Given the description of an element on the screen output the (x, y) to click on. 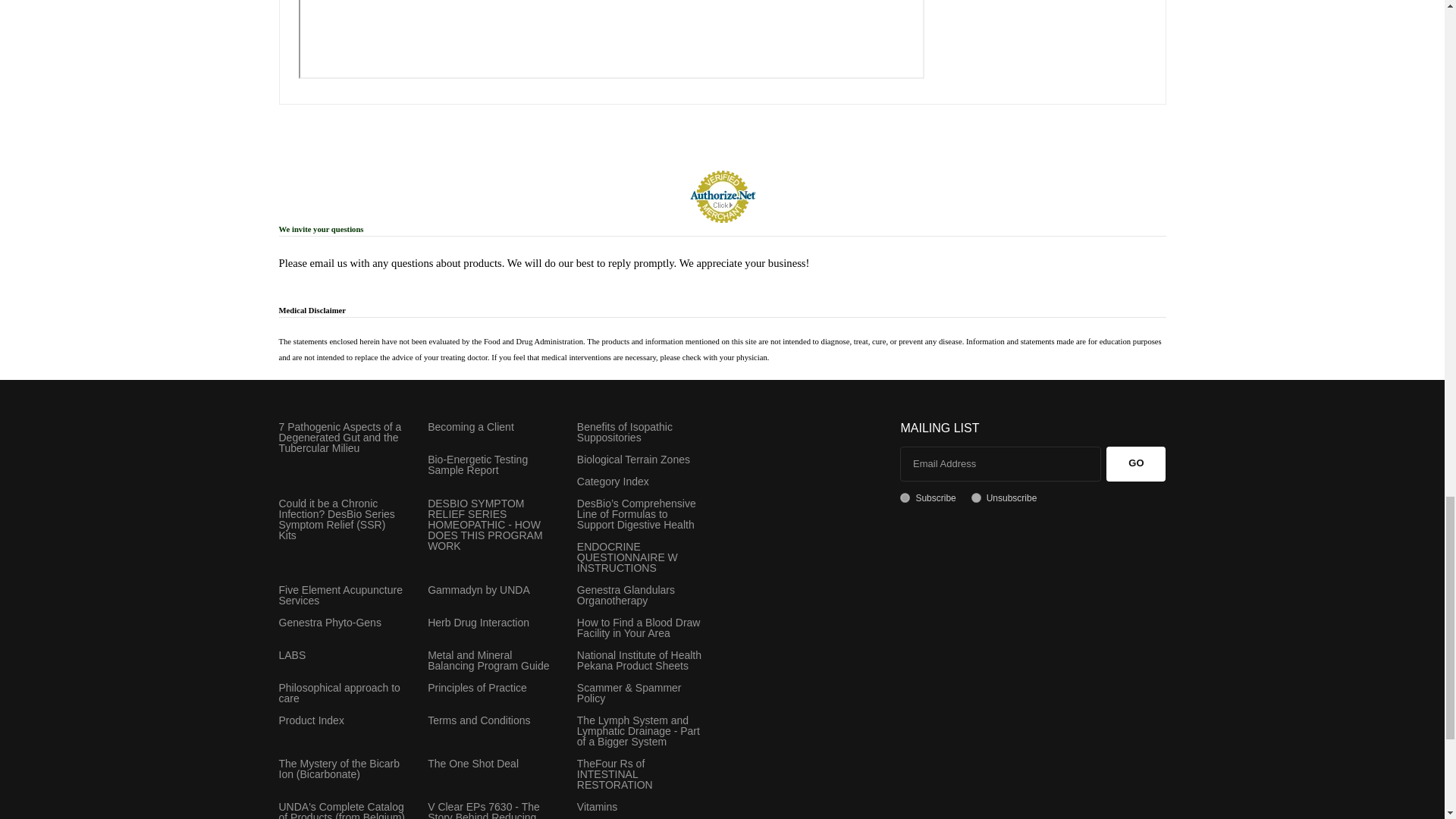
1 (904, 497)
0 (976, 497)
